Given the description of an element on the screen output the (x, y) to click on. 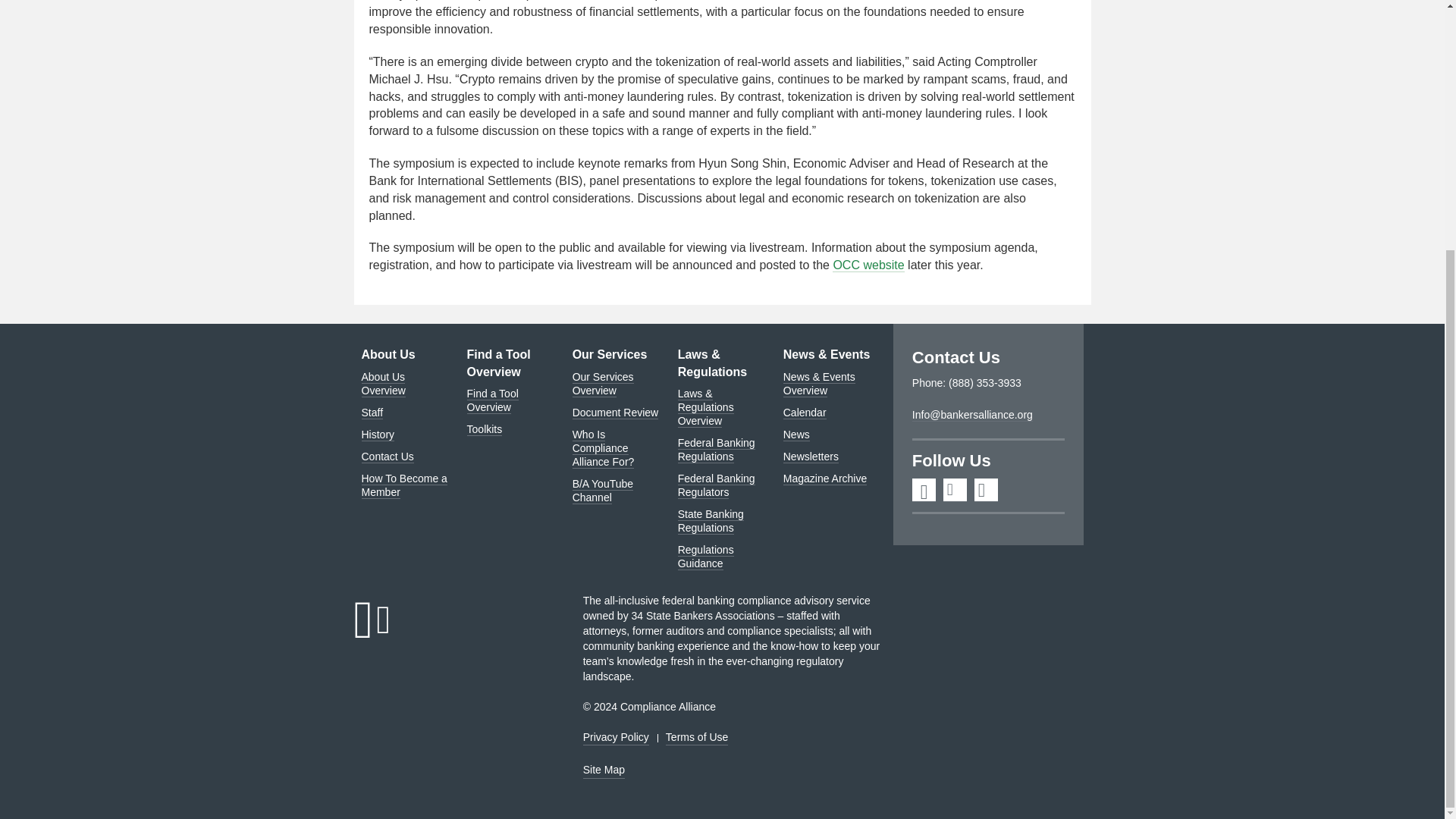
Staff (371, 412)
History (377, 433)
About Us Overview (382, 383)
OCC website (868, 264)
About Us (387, 354)
